Given the description of an element on the screen output the (x, y) to click on. 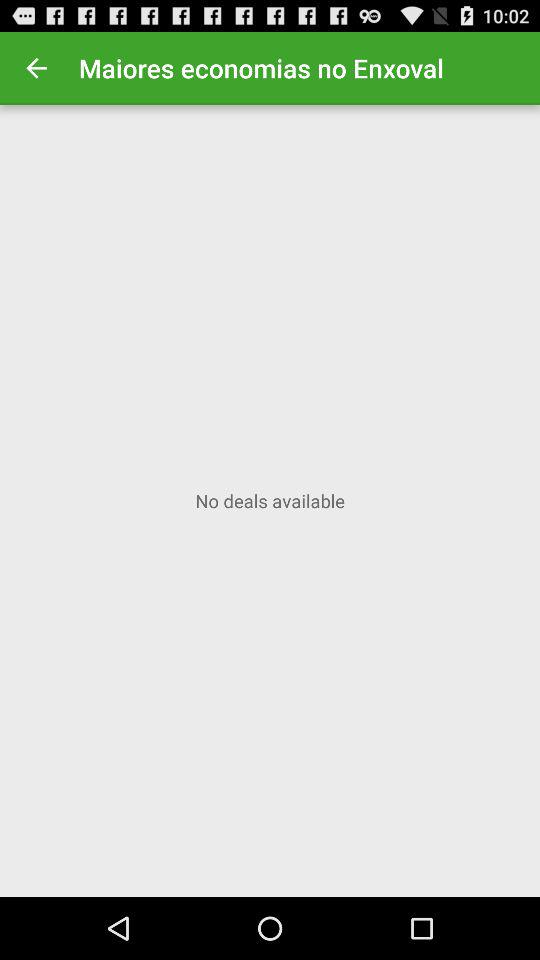
turn off item above the no deals available item (36, 68)
